Given the description of an element on the screen output the (x, y) to click on. 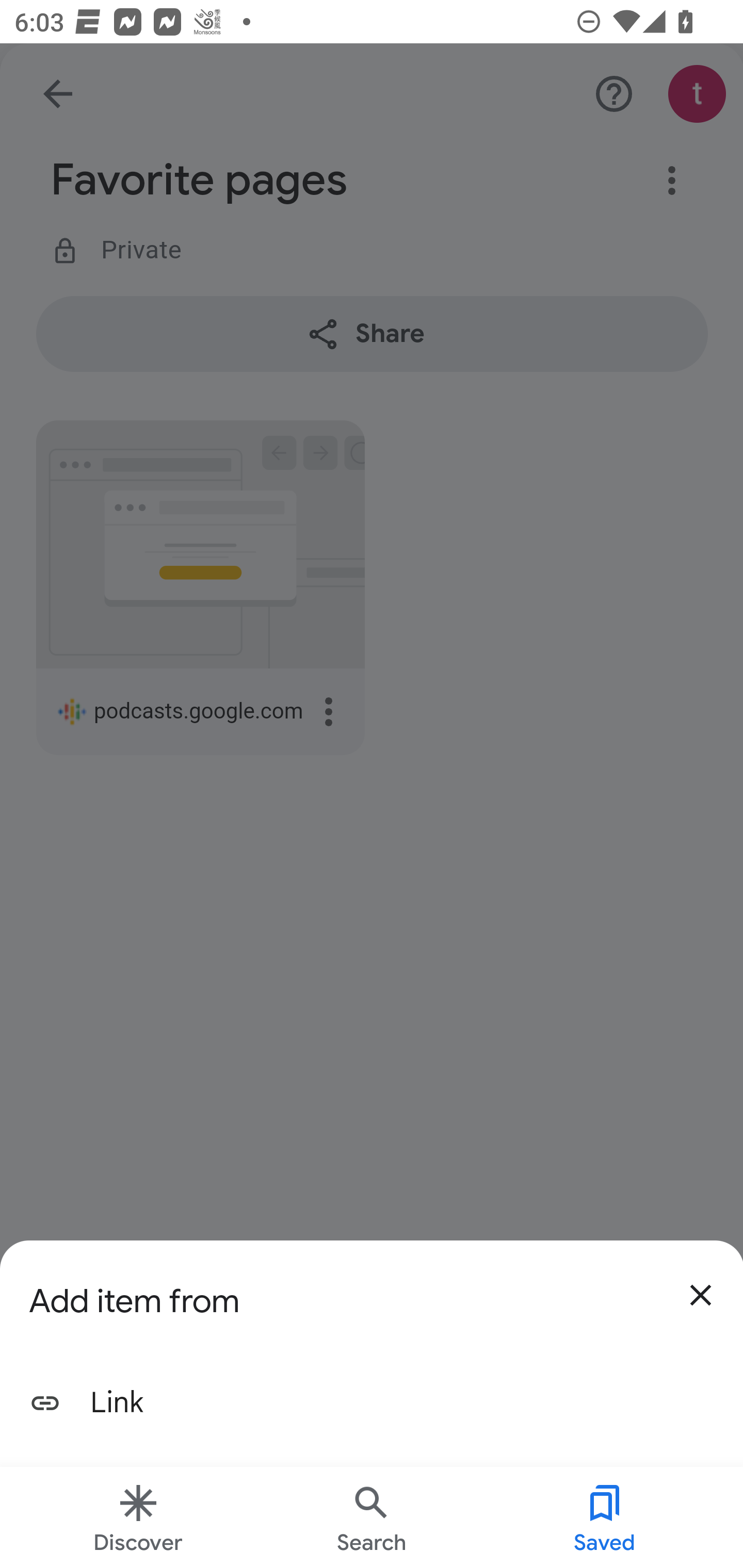
Close (700, 1295)
Link (371, 1403)
Discover (137, 1517)
Search (371, 1517)
